Given the description of an element on the screen output the (x, y) to click on. 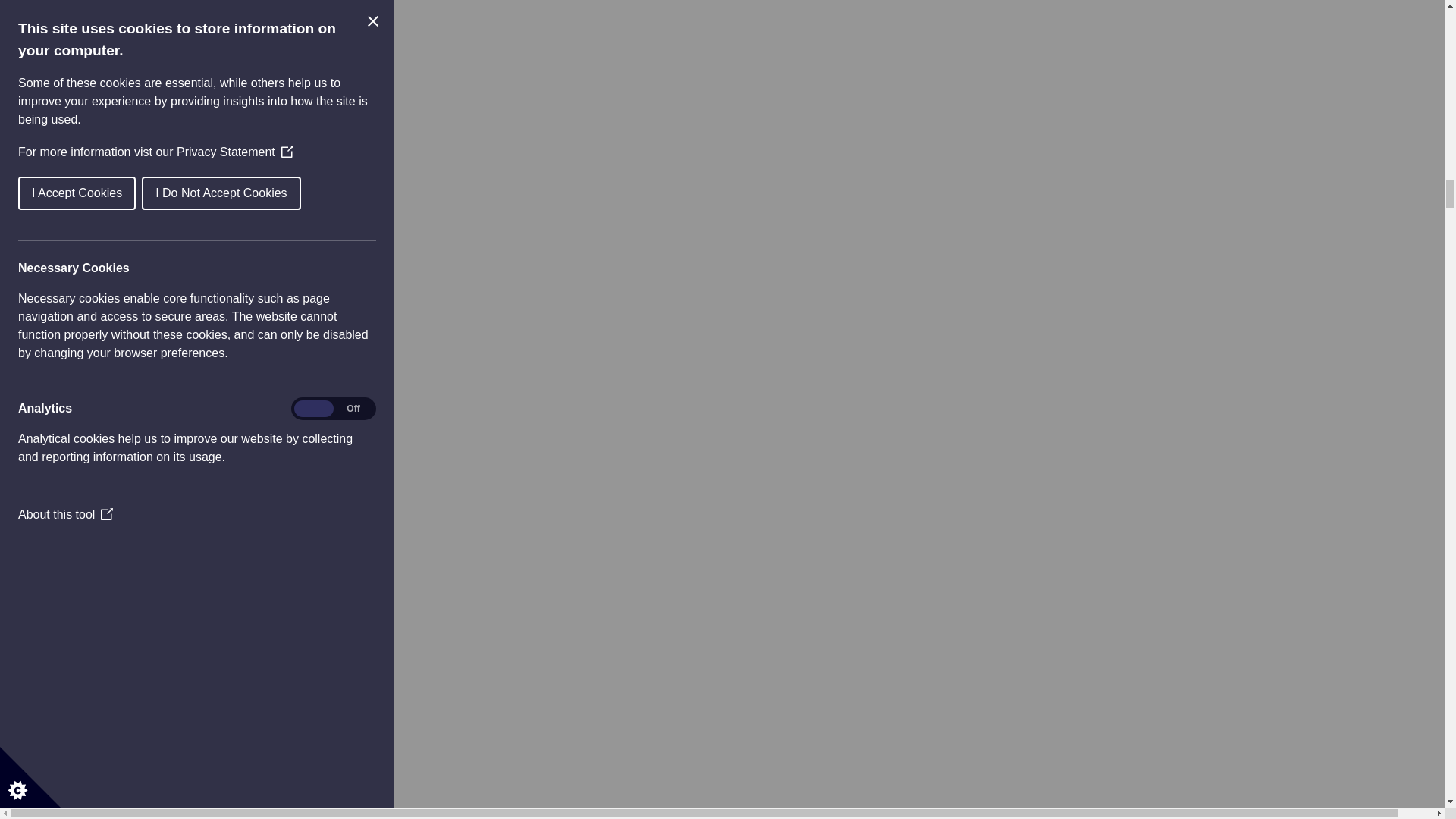
01 (92, 303)
